Given the description of an element on the screen output the (x, y) to click on. 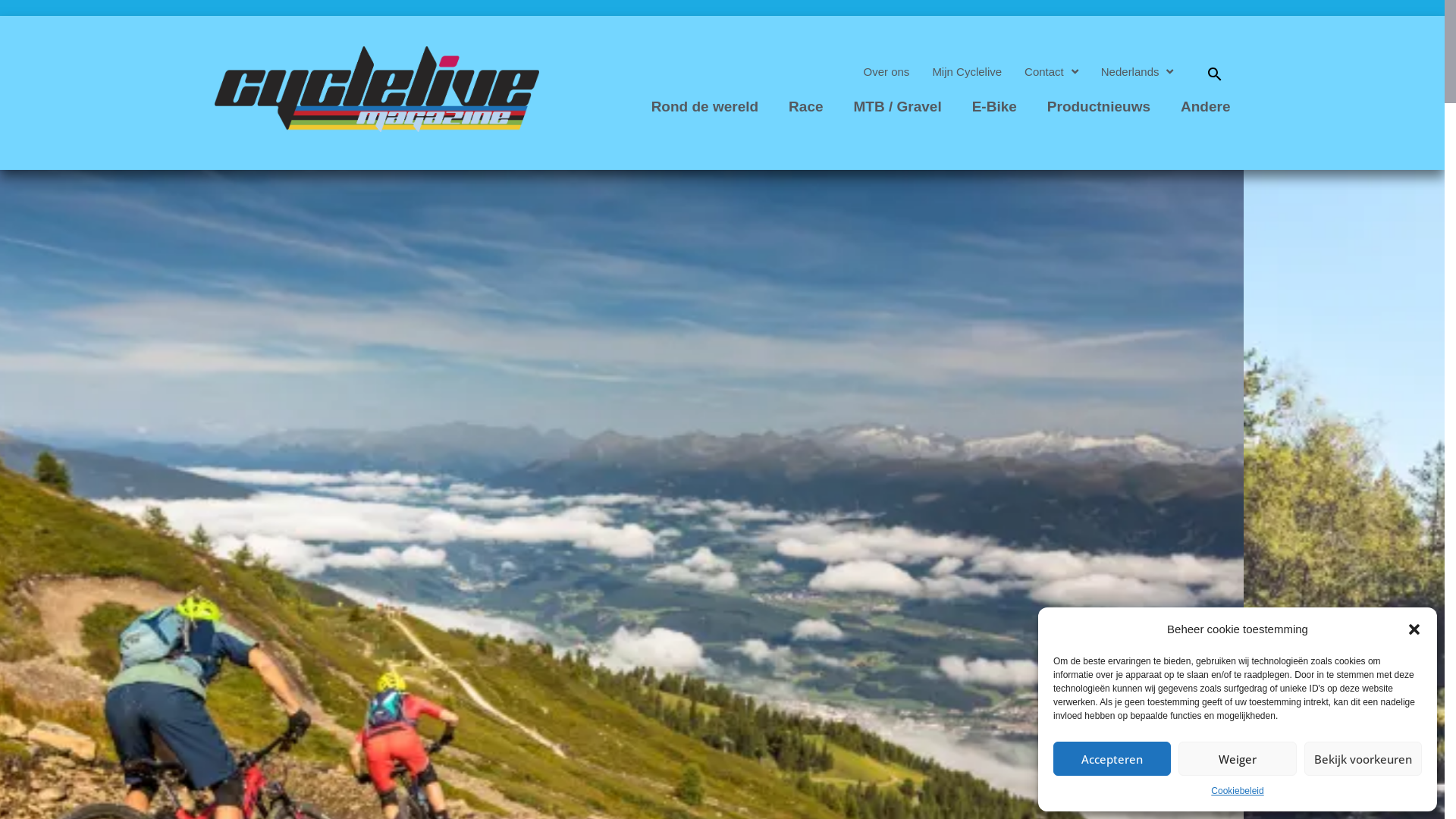
Andere Element type: text (1205, 106)
Accepteren Element type: text (1111, 758)
Over ons Element type: text (886, 71)
E-Bike Element type: text (994, 106)
Cookiebeleid Element type: text (1237, 791)
Productnieuws Element type: text (1098, 106)
Bekijk voorkeuren Element type: text (1362, 758)
Nederlands Element type: text (1137, 71)
Contact Element type: text (1051, 71)
MTB / Gravel Element type: text (897, 106)
Rond de wereld Element type: text (704, 106)
Weiger Element type: text (1236, 758)
Mijn Cyclelive Element type: text (966, 71)
Race Element type: text (805, 106)
